Given the description of an element on the screen output the (x, y) to click on. 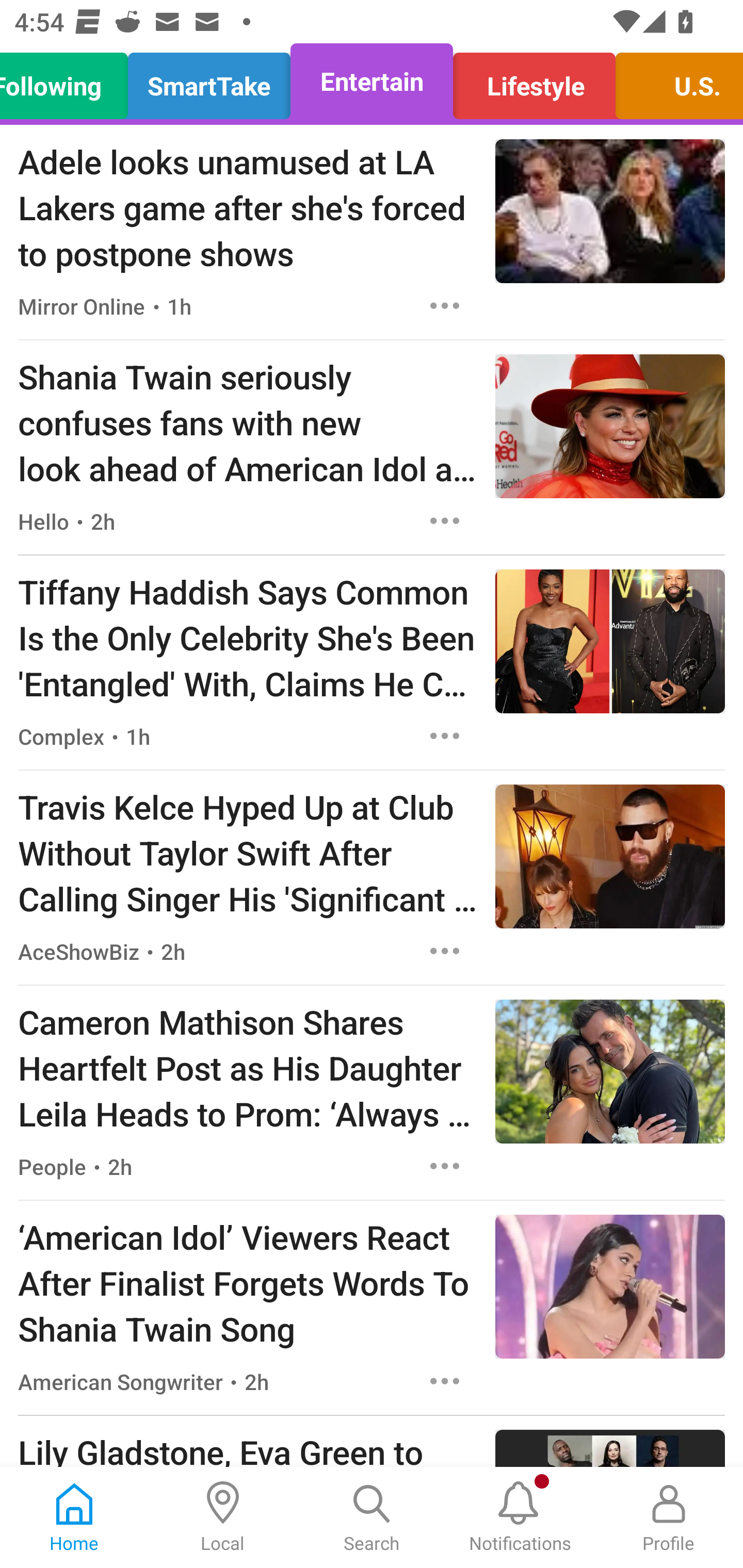
Following (69, 81)
SmartTake (209, 81)
Entertain (371, 81)
Lifestyle (534, 81)
U.S. (673, 81)
Options (444, 305)
Options (444, 520)
Options (444, 736)
Options (444, 950)
Options (444, 1166)
Options (444, 1381)
Local (222, 1517)
Search (371, 1517)
Notifications, New notification Notifications (519, 1517)
Profile (668, 1517)
